Given the description of an element on the screen output the (x, y) to click on. 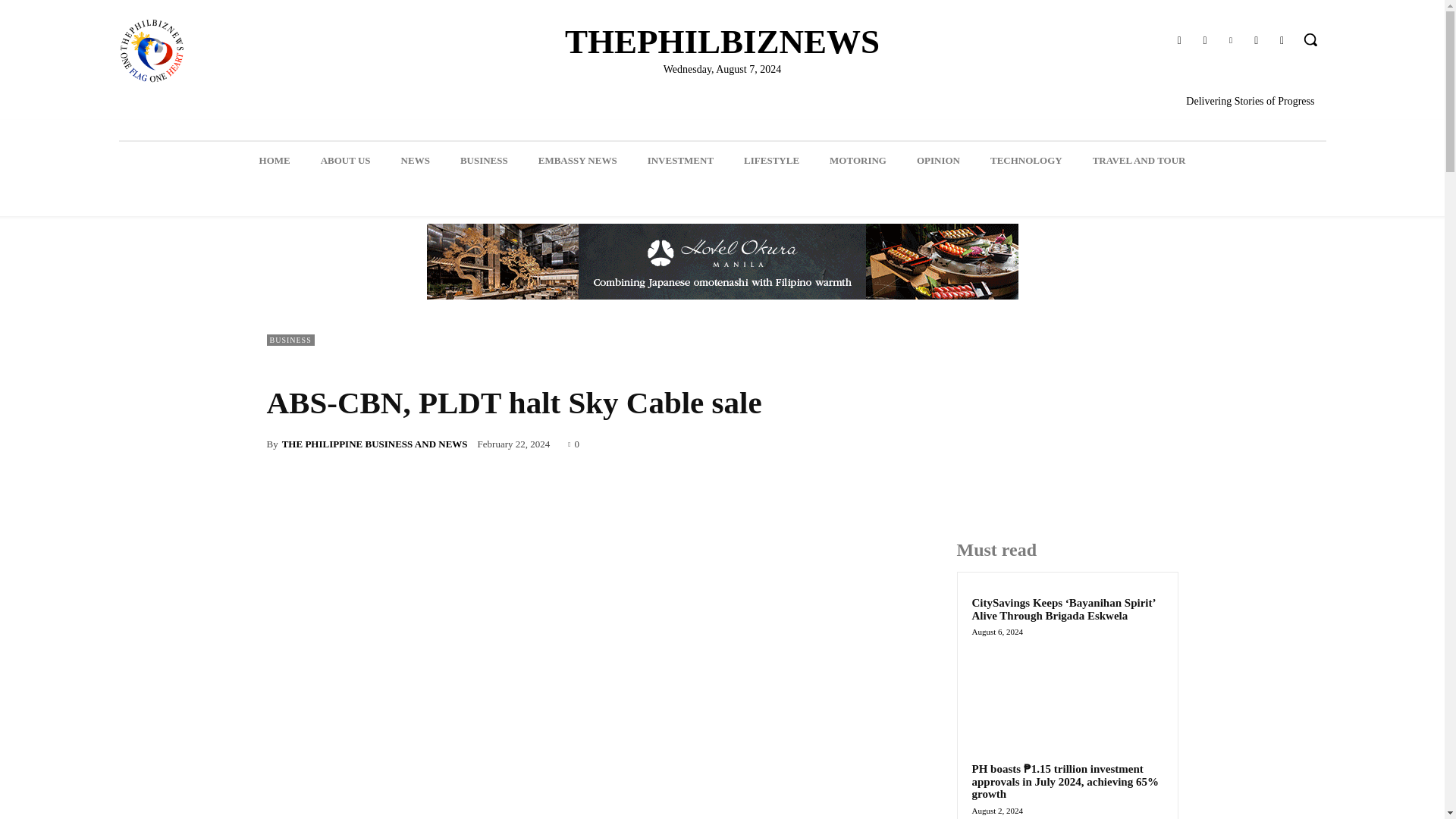
Twitter (1256, 40)
Youtube (1281, 40)
INVESTMENT (680, 160)
LIFESTYLE (771, 160)
BUSINESS (483, 160)
Facebook (1179, 40)
ABOUT US (345, 160)
Instagram (1204, 40)
NEWS (415, 160)
HOME (274, 160)
